Given the description of an element on the screen output the (x, y) to click on. 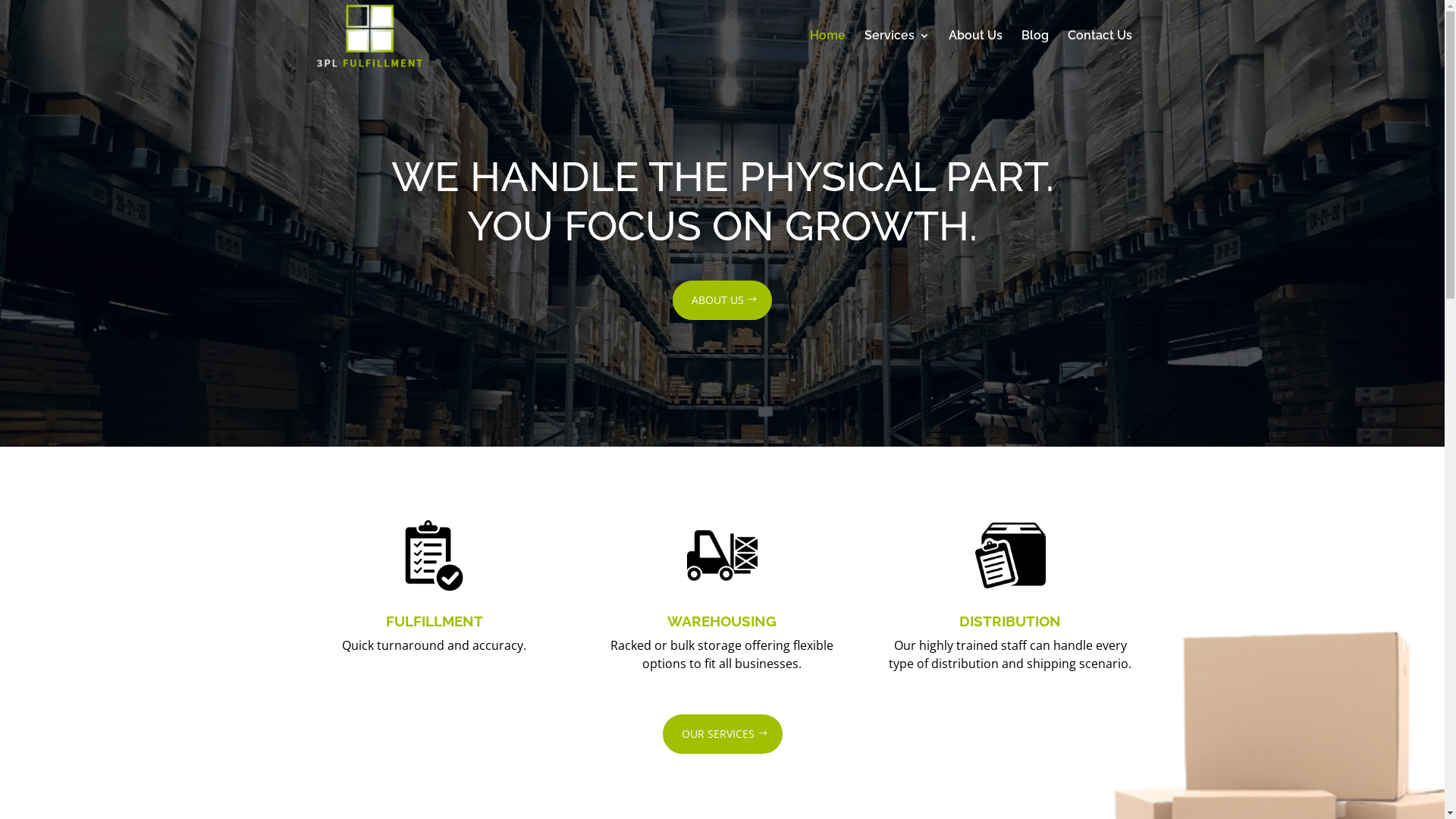
Contact Us Element type: text (1099, 50)
Home Element type: text (827, 50)
About Us Element type: text (974, 50)
OUR SERVICES Element type: text (722, 733)
Services Element type: text (896, 50)
Blog Element type: text (1034, 50)
ABOUT US Element type: text (721, 300)
